Given the description of an element on the screen output the (x, y) to click on. 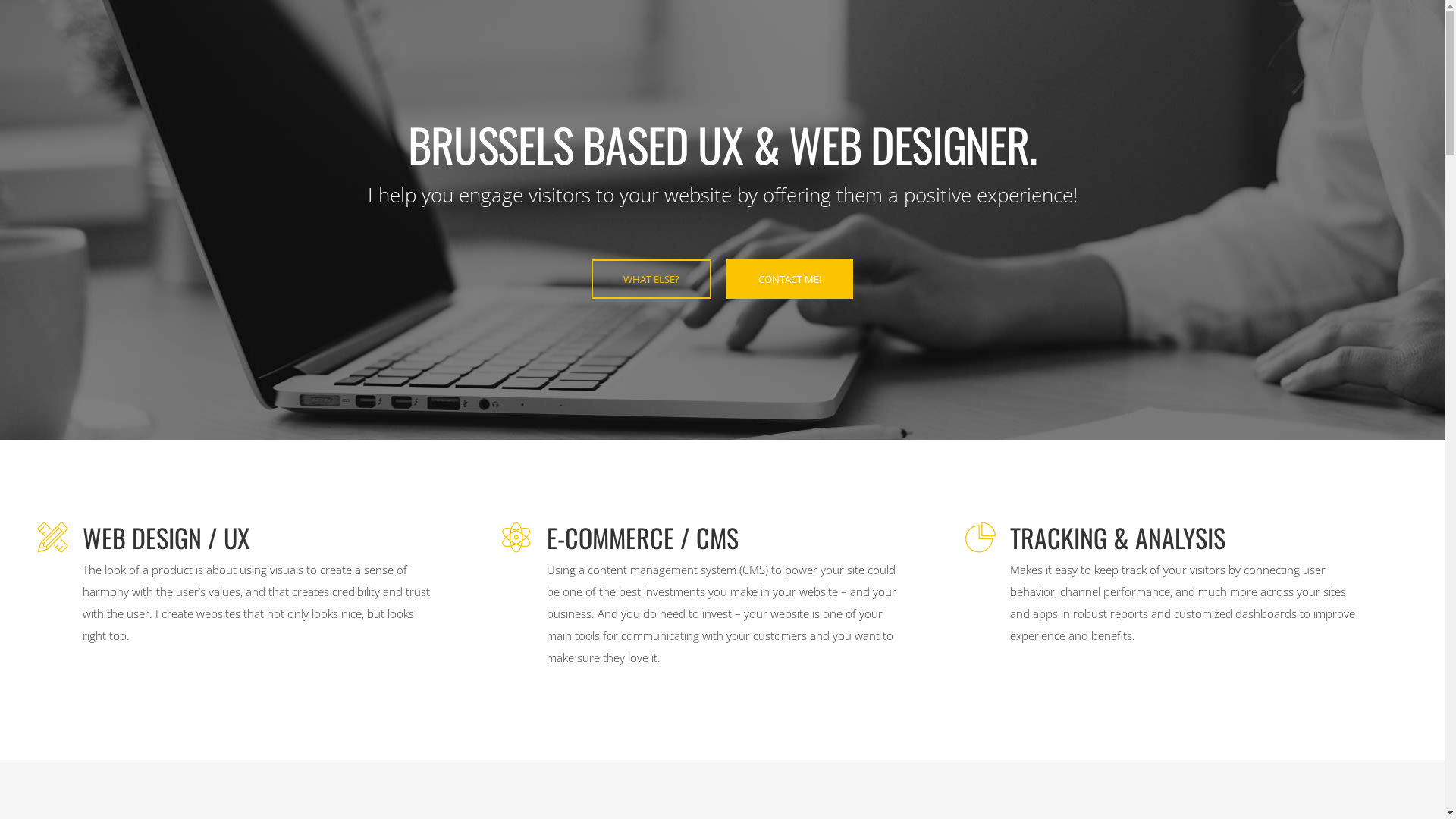
WHAT ELSE? Element type: text (651, 279)
CONTACT ME! Element type: text (789, 279)
